Given the description of an element on the screen output the (x, y) to click on. 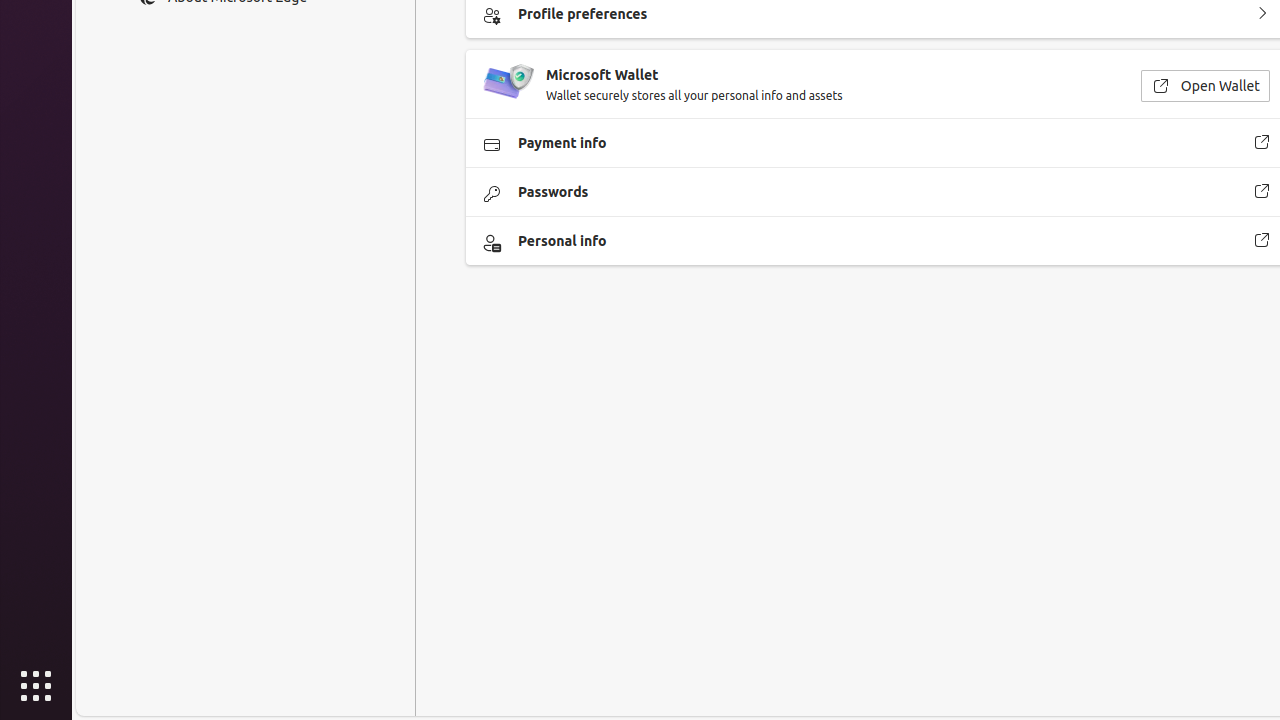
Personal info Element type: push-button (1262, 241)
Passwords Element type: push-button (1262, 192)
Open Wallet Element type: push-button (1205, 86)
Show Applications Element type: toggle-button (36, 686)
Payment info Element type: push-button (1262, 143)
